Given the description of an element on the screen output the (x, y) to click on. 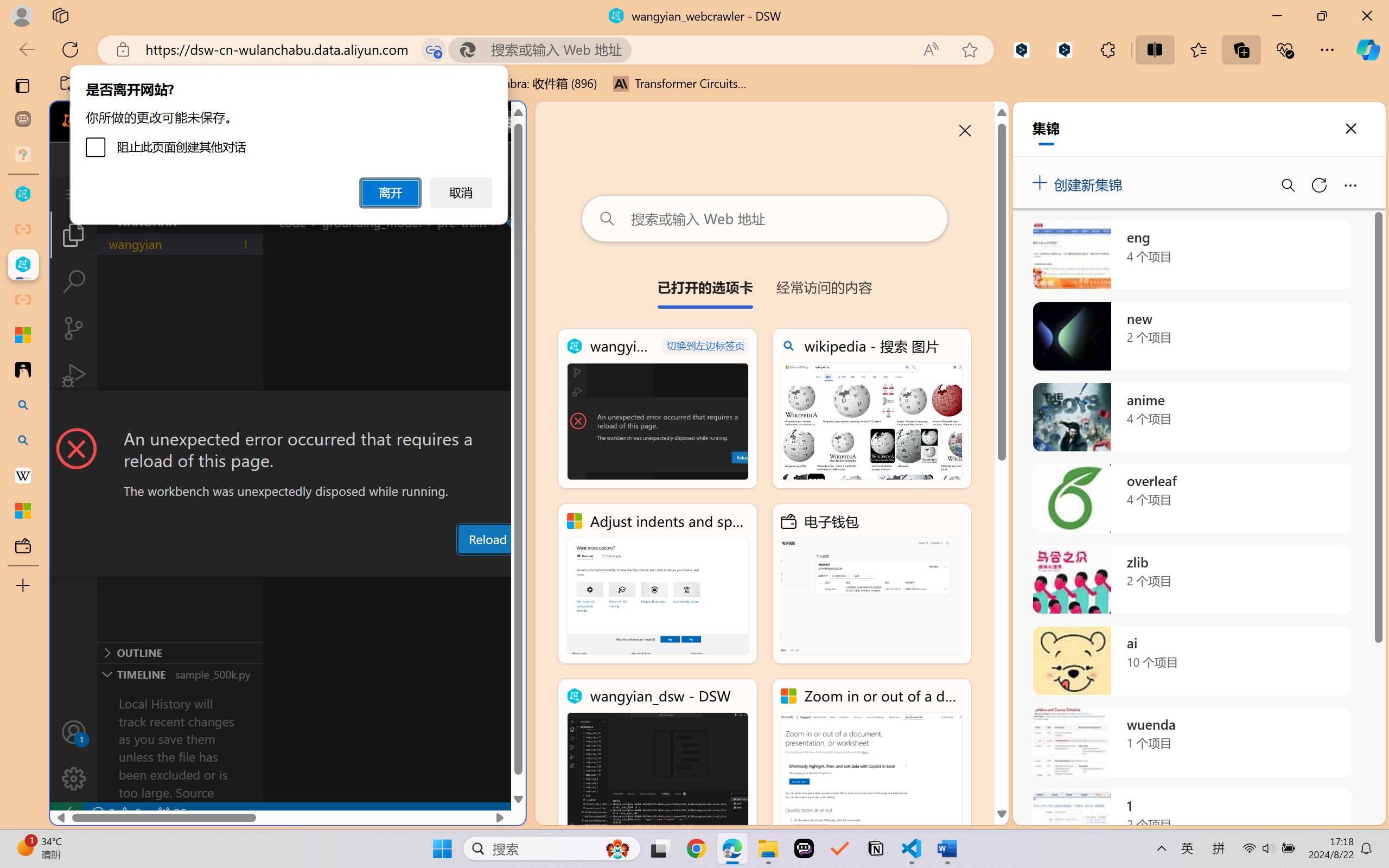
Manage (73, 778)
Close Dialog (520, 410)
Debug Console (Ctrl+Shift+Y) (463, 565)
Adjust indents and spacing - Microsoft Support (22, 334)
